Given the description of an element on the screen output the (x, y) to click on. 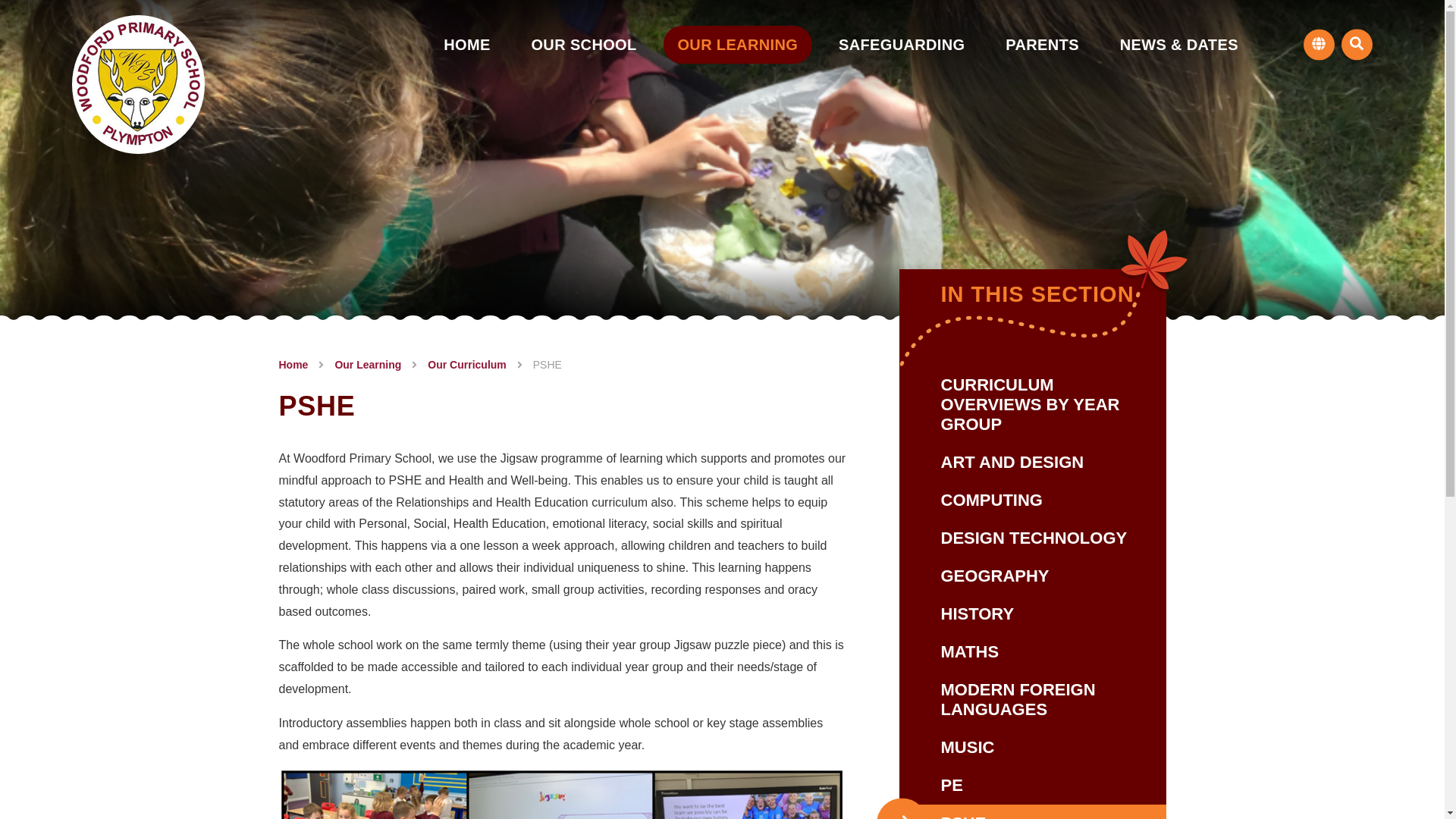
OUR SCHOOL (583, 44)
HOME (466, 44)
